Given the description of an element on the screen output the (x, y) to click on. 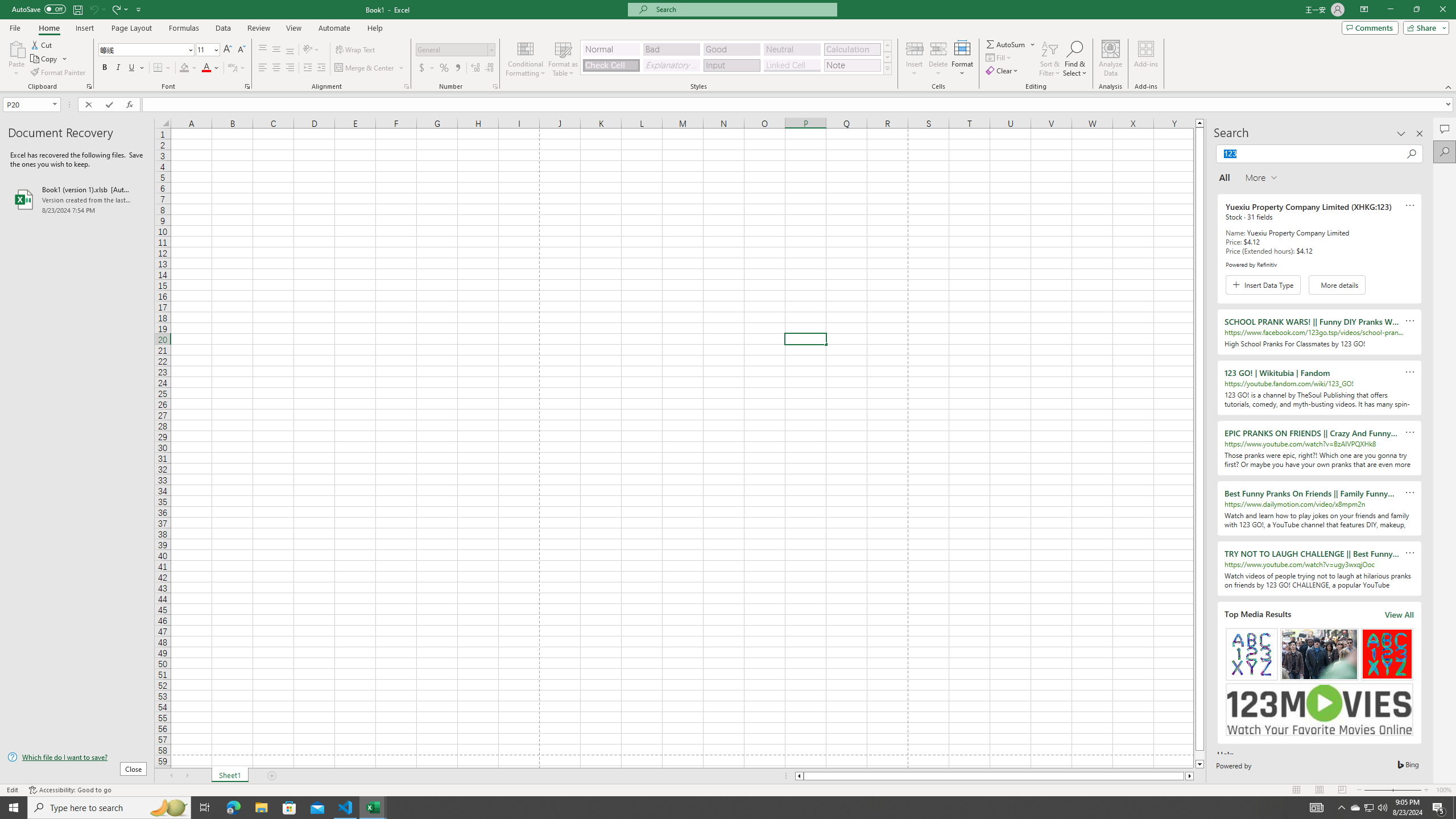
Underline (131, 67)
Font Size (207, 49)
Search (1444, 151)
Font (147, 49)
Borders (162, 67)
Font Color RGB(255, 0, 0) (206, 67)
Automate (334, 28)
AutoSave (38, 9)
